Given the description of an element on the screen output the (x, y) to click on. 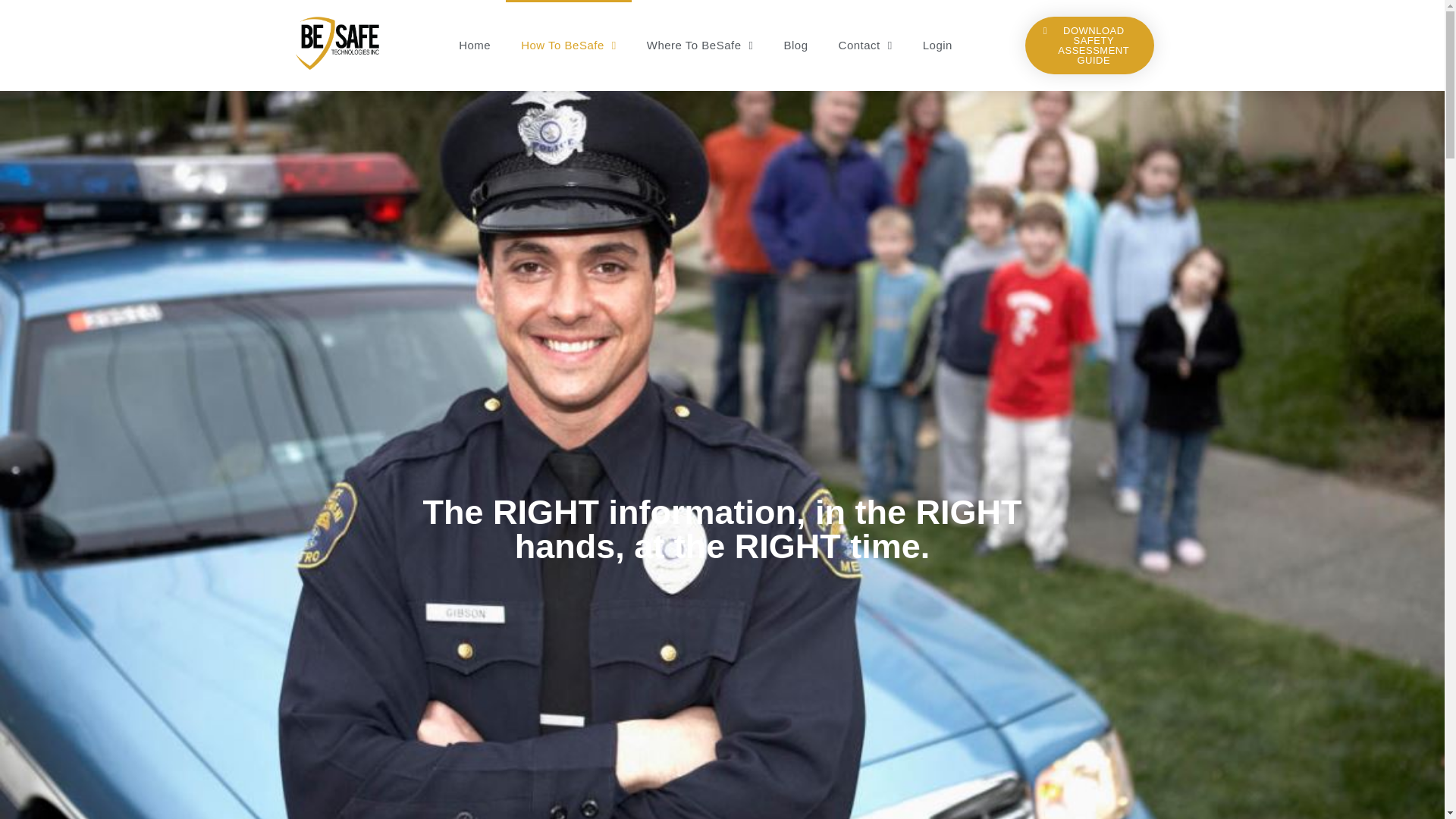
Contact (865, 45)
How To BeSafe (568, 45)
Where To BeSafe (699, 45)
